Given the description of an element on the screen output the (x, y) to click on. 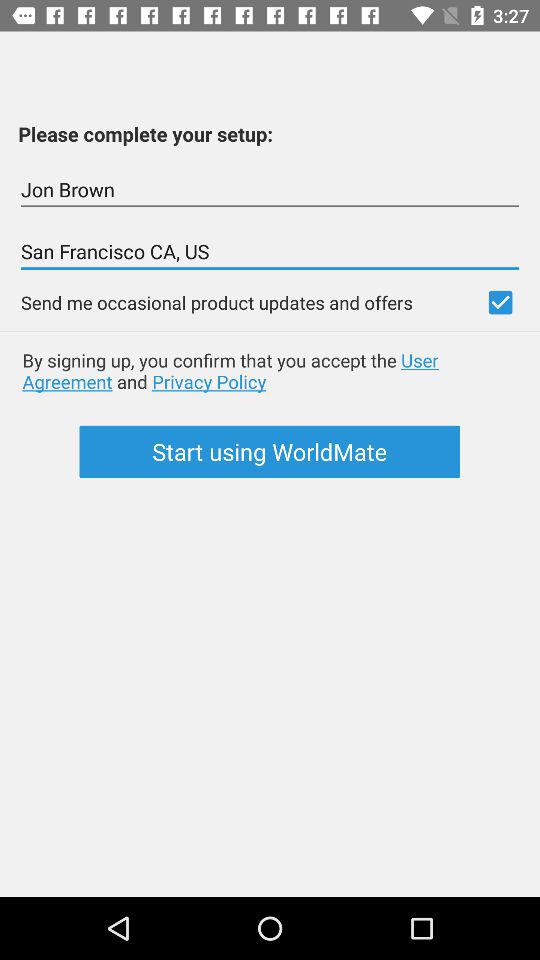
send me product updates or offers on/off (500, 302)
